Given the description of an element on the screen output the (x, y) to click on. 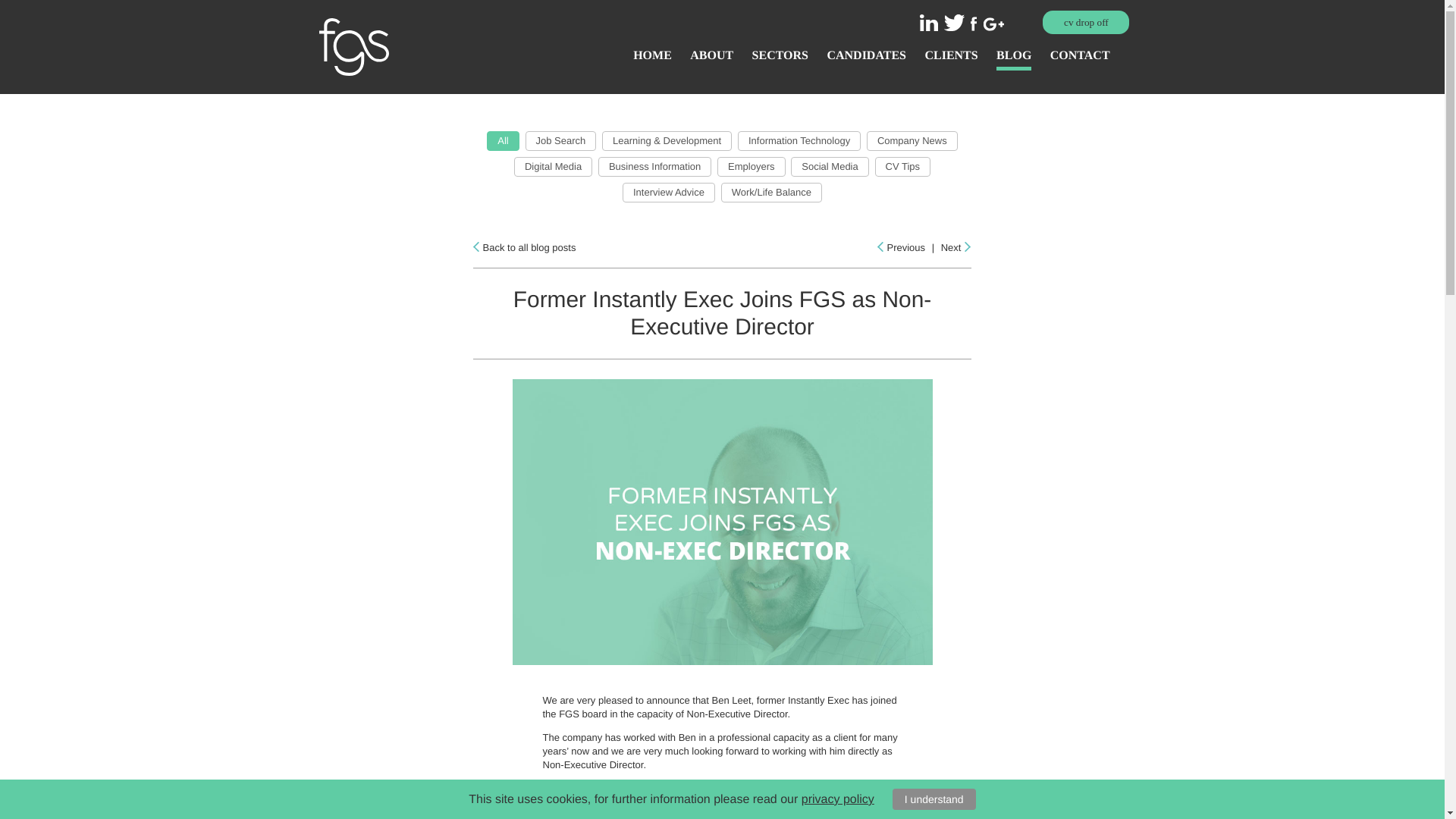
SECTORS (780, 59)
cv drop off (1085, 22)
CONTACT (1079, 59)
CANDIDATES (866, 59)
ABOUT (711, 59)
CLIENTS (950, 59)
HOME (652, 59)
BLOG (1012, 59)
